Given the description of an element on the screen output the (x, y) to click on. 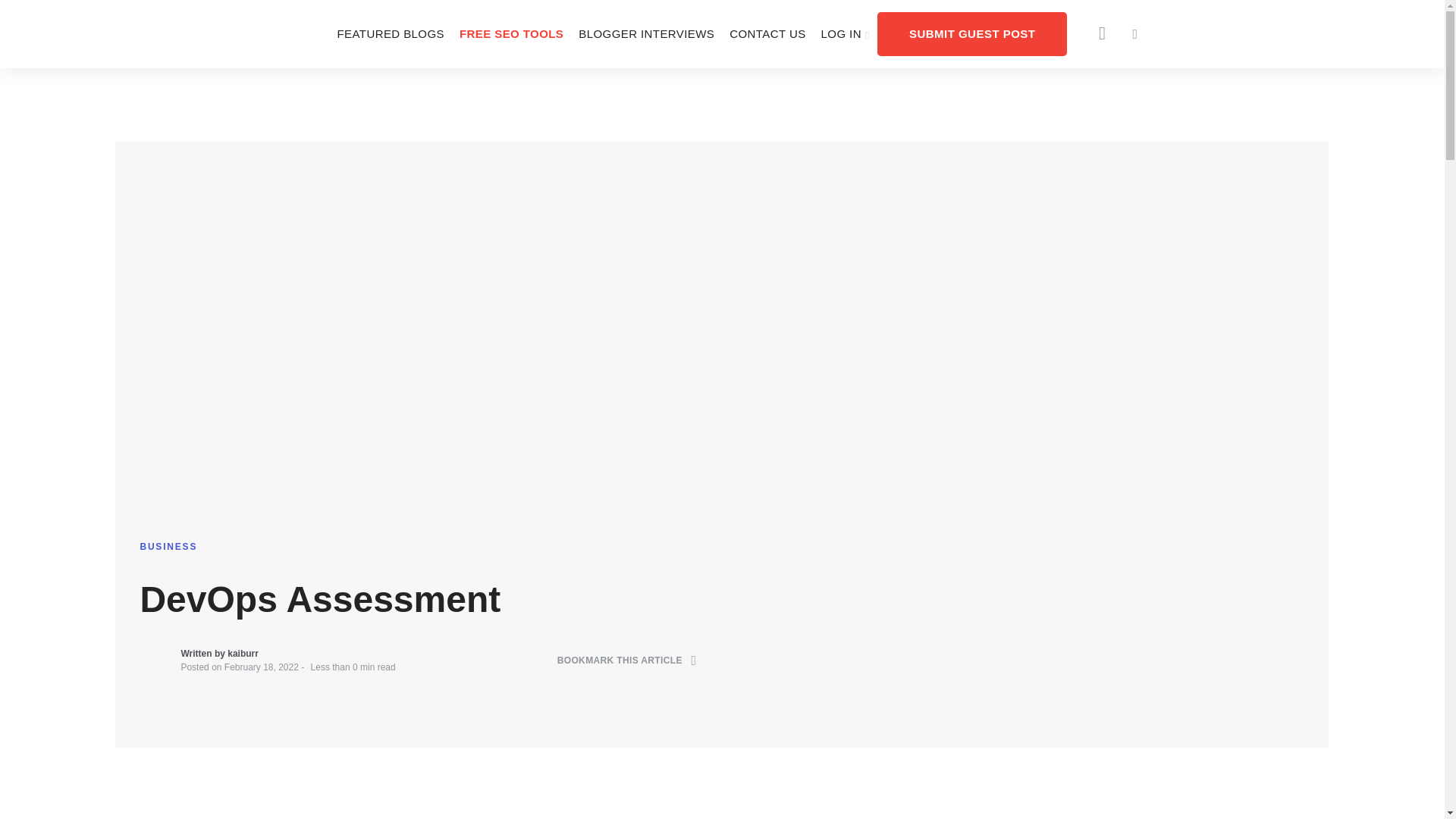
LOG IN (845, 33)
CONTACT US (767, 33)
BOOKMARK THIS ARTICLE (627, 660)
SUBMIT GUEST POST (972, 33)
LOG IN (845, 33)
CONTACT US (767, 33)
February 18, 2022 (261, 666)
BUSINESS (167, 546)
FREE SEO TOOLS (510, 33)
BLOGGER INTERVIEWS (646, 33)
BLOGGER INTERVIEWS (646, 33)
FEATURED BLOGS (390, 33)
FEATURED BLOGS (390, 33)
SUBMIT GUEST POST (972, 33)
kaiburr (243, 653)
